Given the description of an element on the screen output the (x, y) to click on. 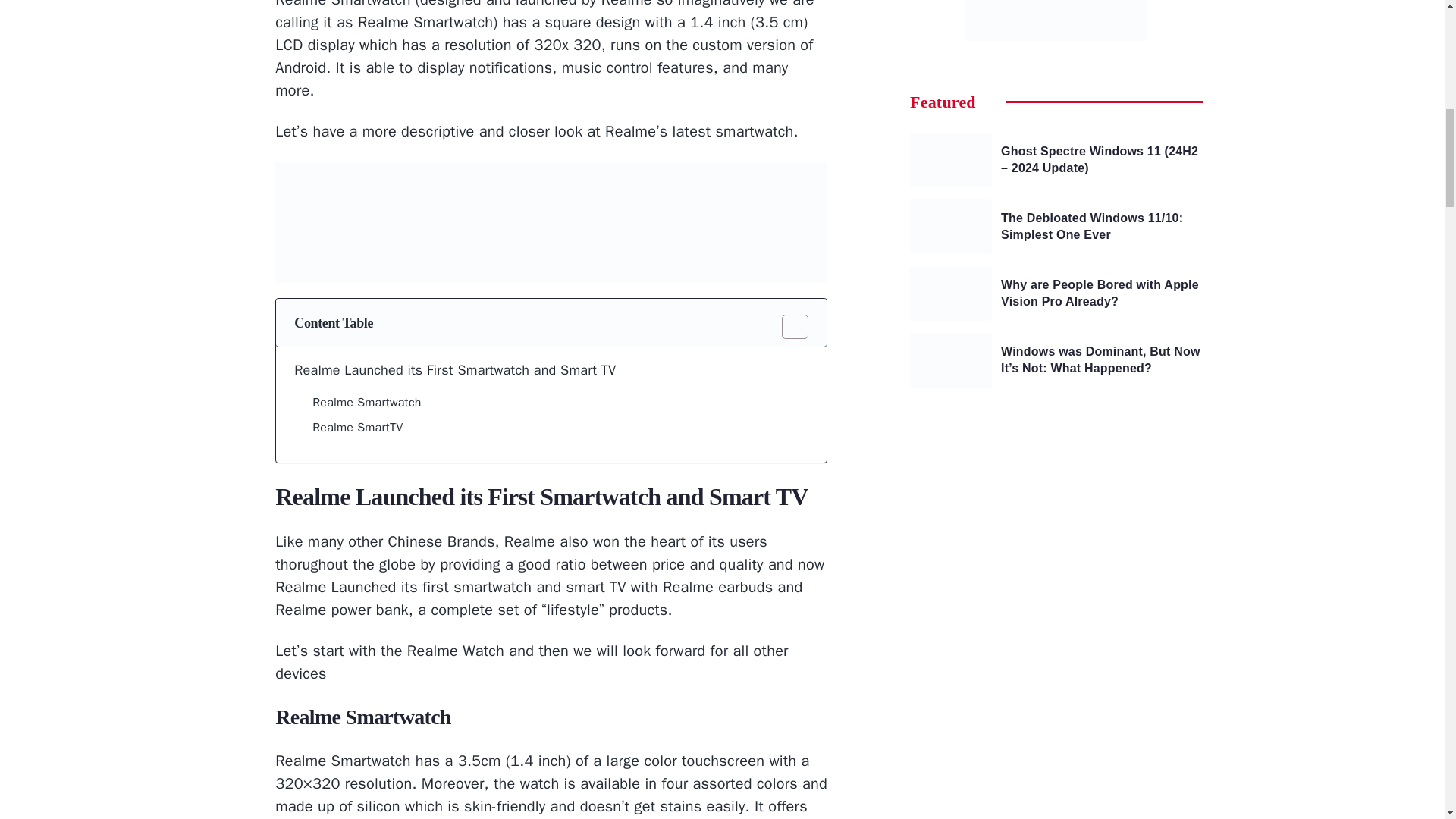
Realme Launched its First Smartwatch and Smart TV (454, 370)
Realme SmartTV (358, 428)
Realme Launched its First Smartwatch and Smart TV (454, 370)
Realme Smartwatch (366, 403)
Realme SmartTV (358, 428)
Realme Smartwatch (366, 403)
